Given the description of an element on the screen output the (x, y) to click on. 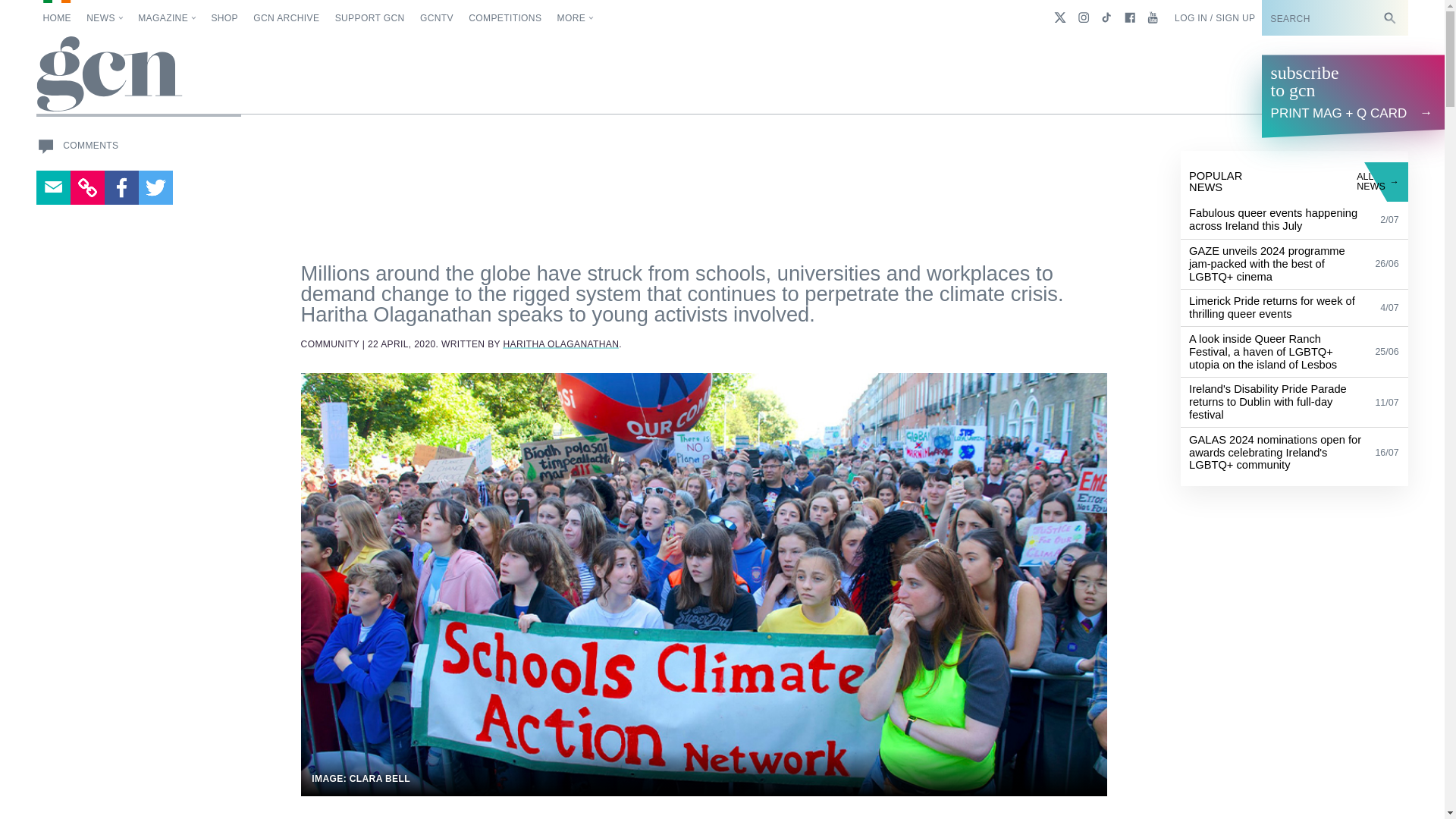
SHOP (224, 18)
Log in or sign up to GCN (1215, 18)
MORE (575, 18)
HOME (56, 18)
Subscribe to GCN (1324, 18)
NEWS (104, 18)
COMPETITIONS (505, 18)
GCNTV (436, 18)
SUPPORT GCN (369, 18)
GCN ARCHIVE (285, 18)
MAGAZINE (167, 18)
